Given the description of an element on the screen output the (x, y) to click on. 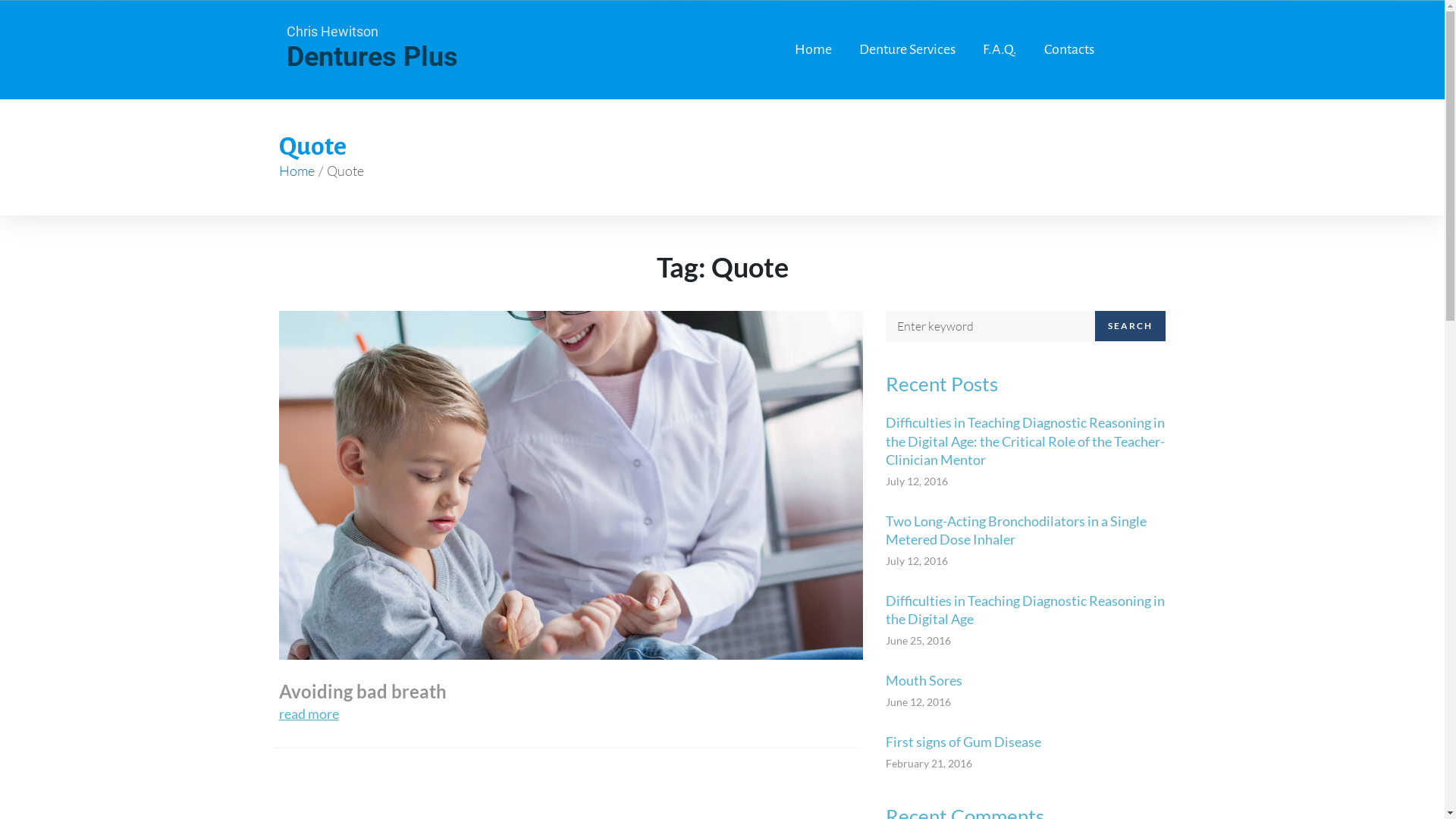
Contacts Element type: text (1068, 49)
SEARCH Element type: text (1130, 325)
First signs of Gum Disease Element type: text (1025, 741)
Avoiding bad breath Element type: text (362, 691)
Denture Services Element type: text (906, 49)
F.A.Q. Element type: text (999, 49)
read more Element type: text (308, 713)
Mouth Sores Element type: text (1025, 680)
Home Element type: text (296, 171)
Home Element type: text (812, 49)
